Given the description of an element on the screen output the (x, y) to click on. 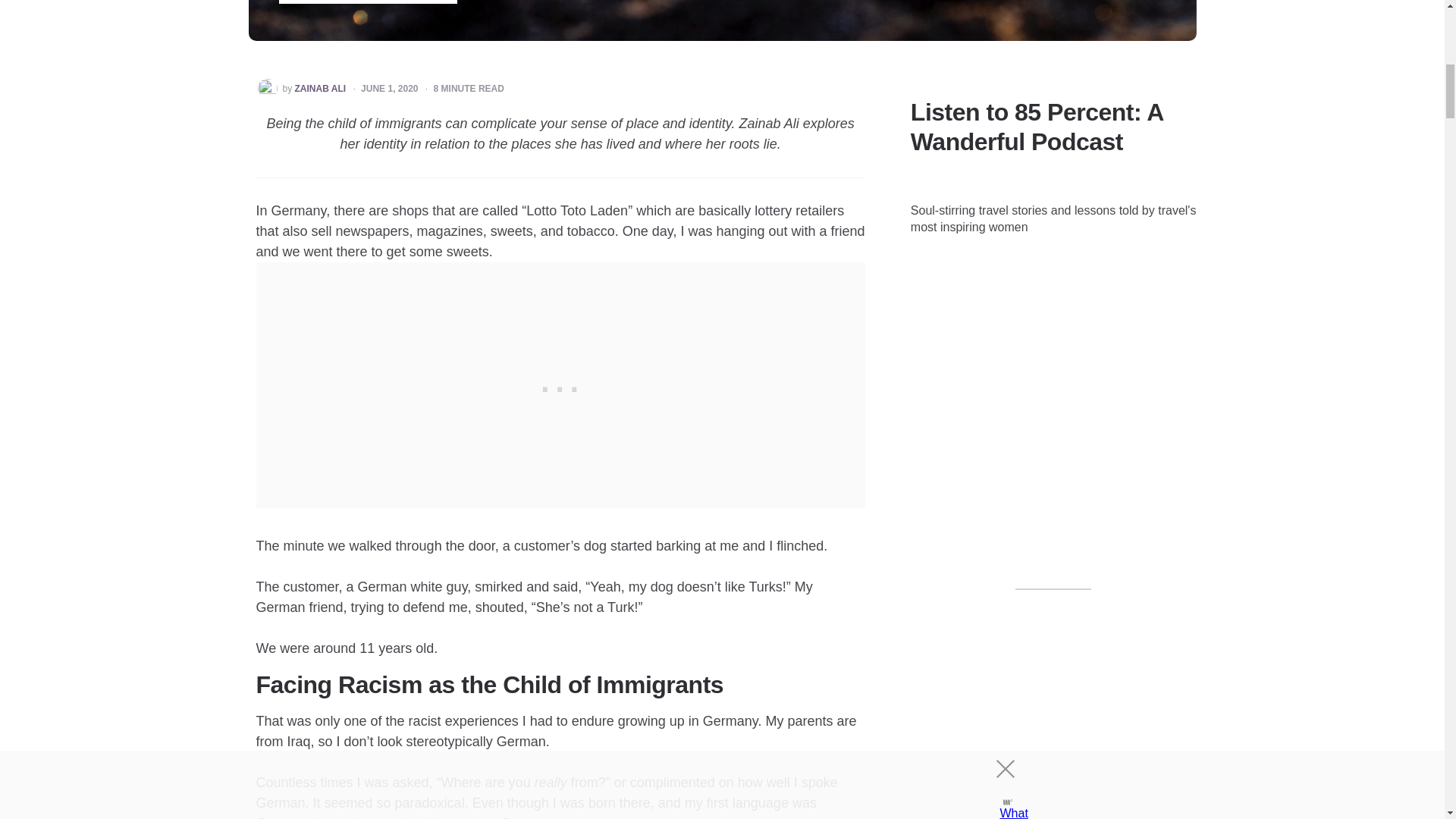
ZAINAB ALI (320, 89)
